Given the description of an element on the screen output the (x, y) to click on. 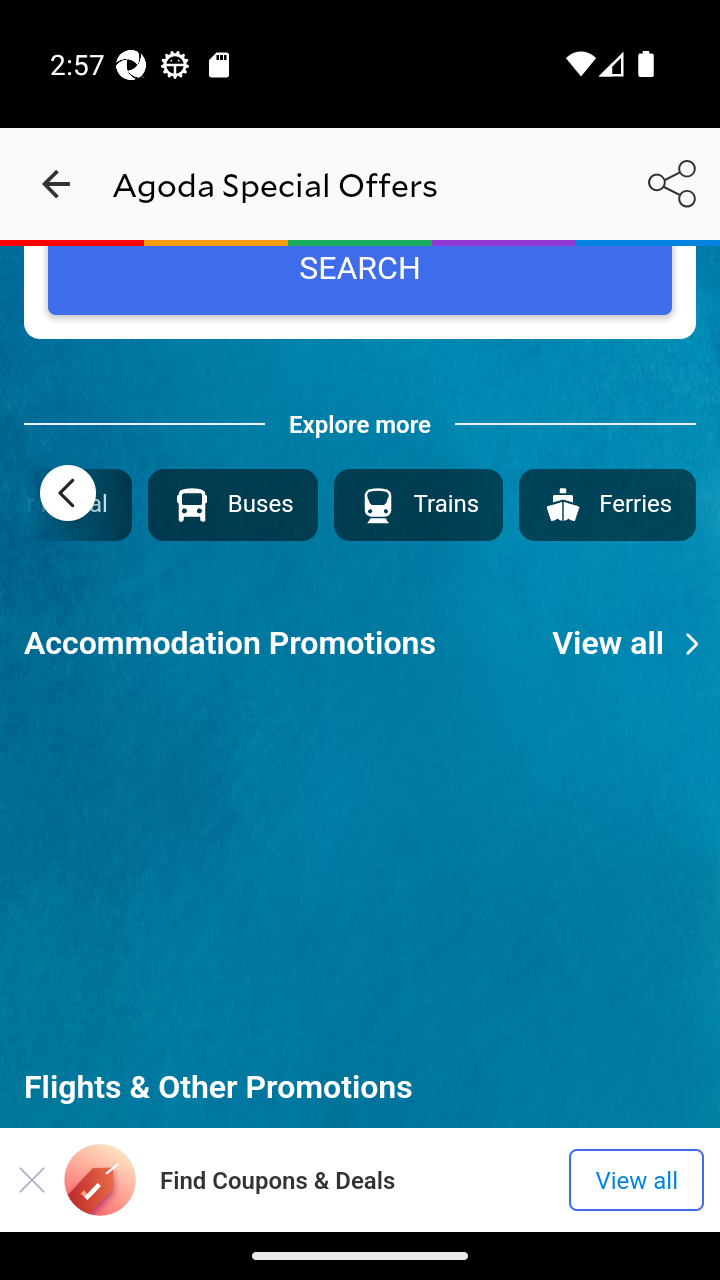
navigation_button (56, 184)
Share (672, 183)
SEARCH (359, 280)
Buses (232, 504)
Trains (417, 504)
Ferries (606, 504)
View all (636, 643)
Find Coupons & Deals View all (360, 1179)
View all (636, 1180)
